Given the description of an element on the screen output the (x, y) to click on. 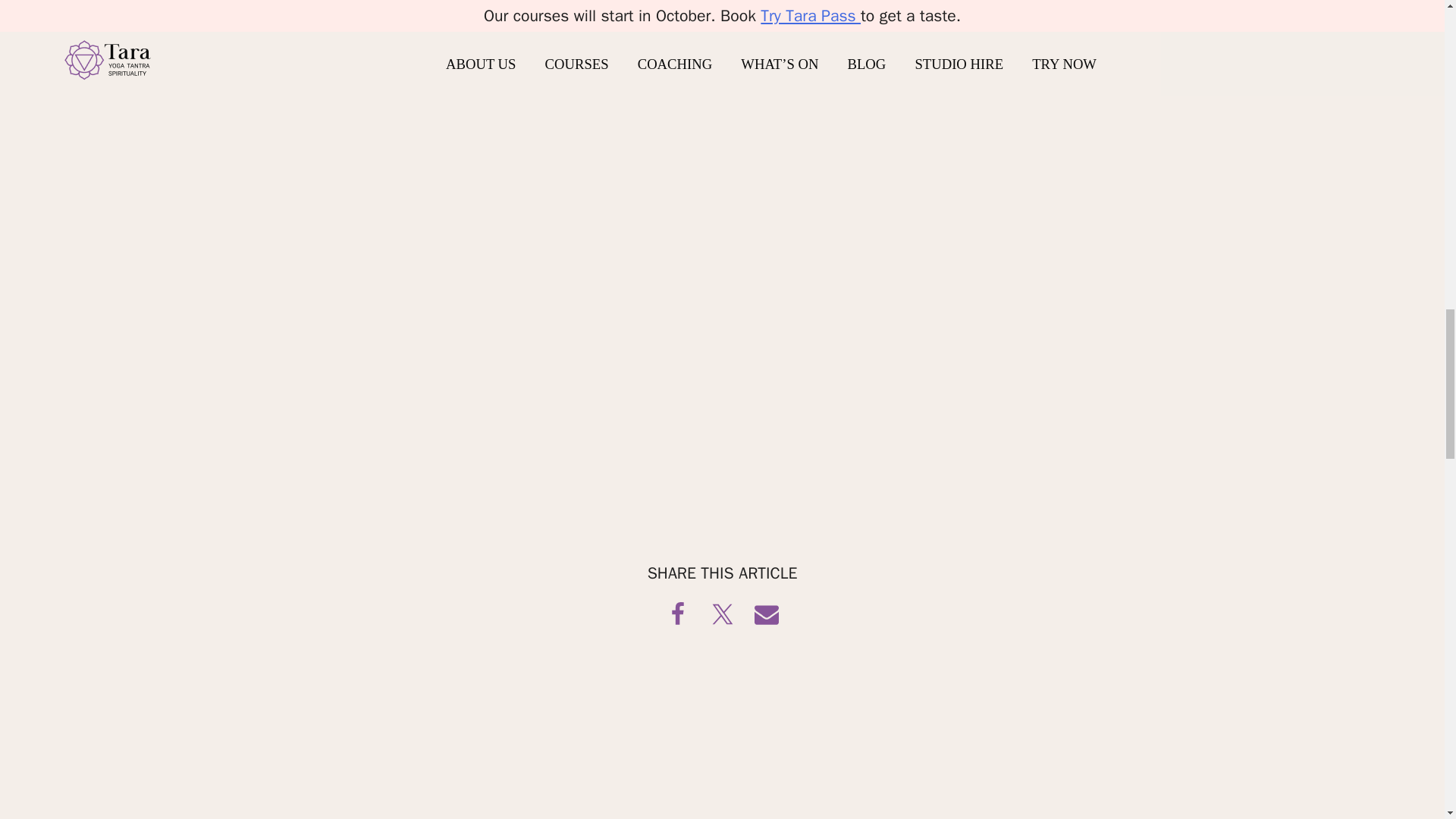
Share via Email (766, 613)
Share on Twitter (721, 613)
Share on Facebook (677, 613)
